Given the description of an element on the screen output the (x, y) to click on. 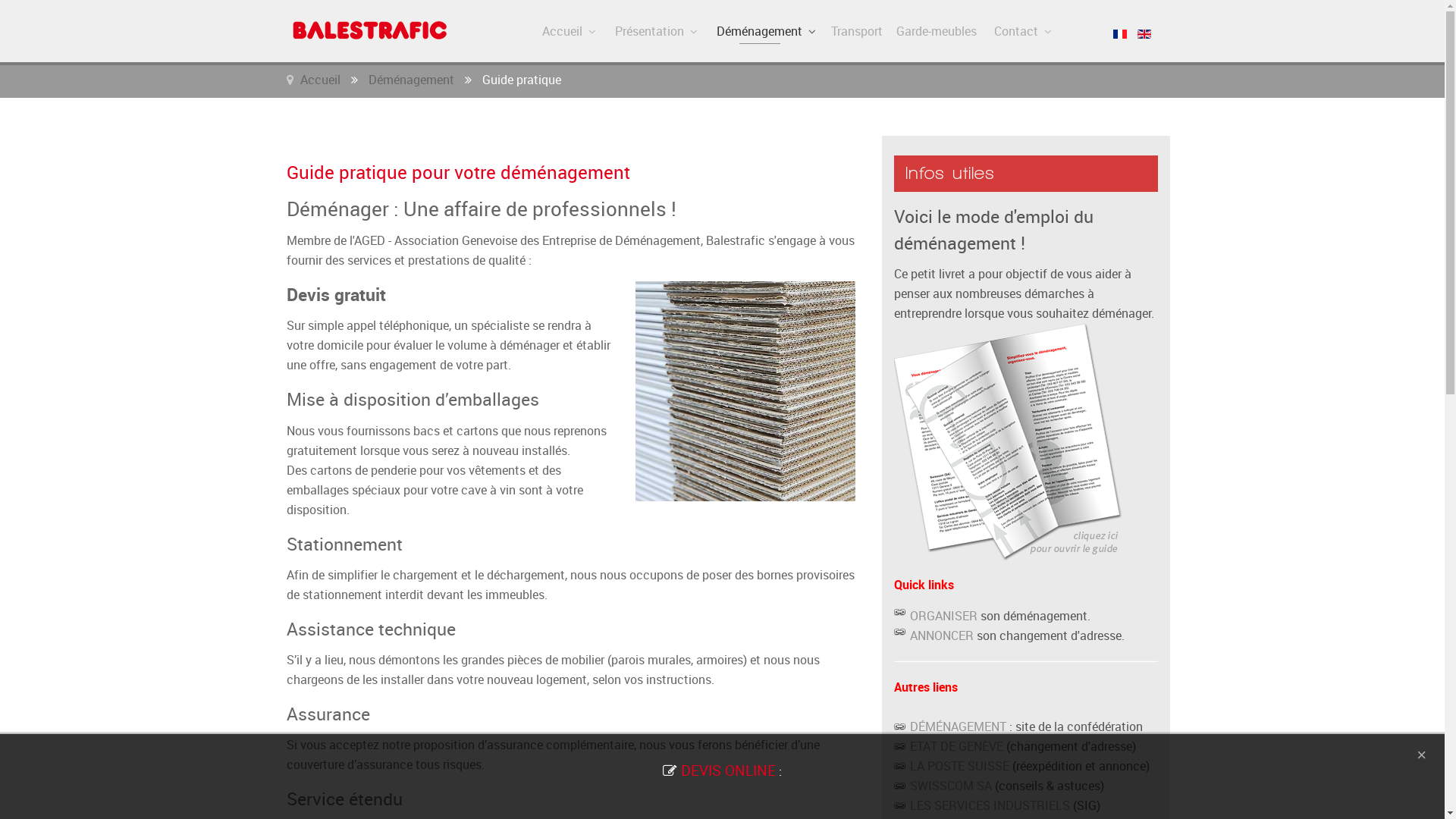
Transport Element type: text (856, 30)
SWISSCOM SA Element type: text (942, 785)
LA POSTE SUISSE Element type: text (950, 765)
Garde-meubles Element type: text (936, 30)
ANNONCER Element type: text (941, 635)
LES SERVICES INDUSTRIELS Element type: text (981, 805)
Contact Element type: text (1021, 30)
Accueil Element type: text (567, 30)
DEVIS ONLINE Element type: text (727, 769)
Accueil Element type: text (320, 79)
ORGANISER Element type: text (943, 615)
English (UK) Element type: hover (1144, 33)
